Given the description of an element on the screen output the (x, y) to click on. 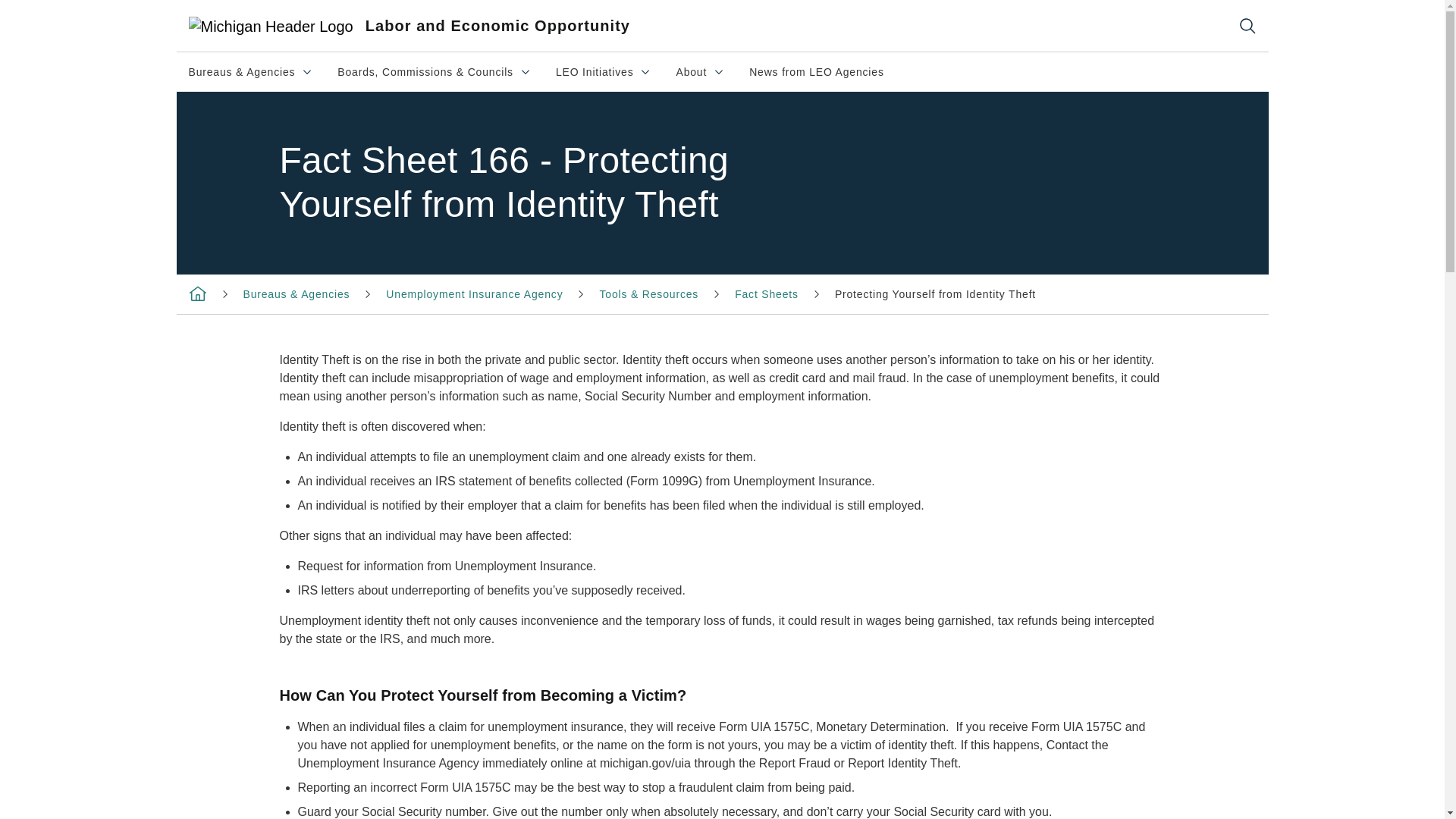
Protecting Yourself from Identity Theft (934, 294)
Labor and Economic Opportunity (196, 293)
Fact Sheets (603, 71)
Labor and Economic Opportunity (766, 294)
News from LEO Agencies (699, 71)
Unemployment Insurance Agency (491, 25)
